Given the description of an element on the screen output the (x, y) to click on. 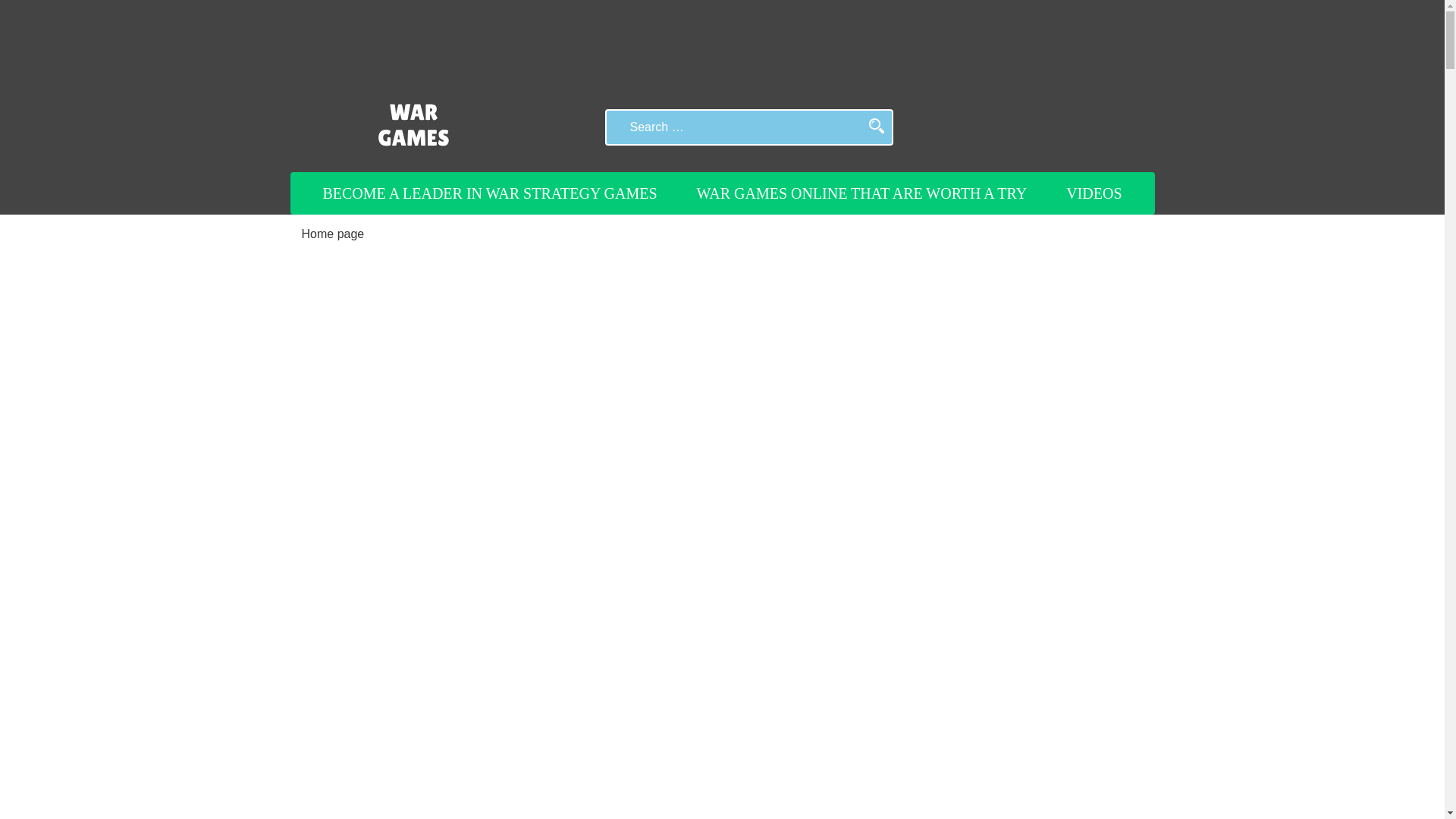
Home page (333, 233)
WAR GAMES ONLINE THAT ARE WORTH A TRY (862, 192)
VIDEOS (1093, 192)
BECOME A LEADER IN WAR STRATEGY GAMES (489, 192)
